Given the description of an element on the screen output the (x, y) to click on. 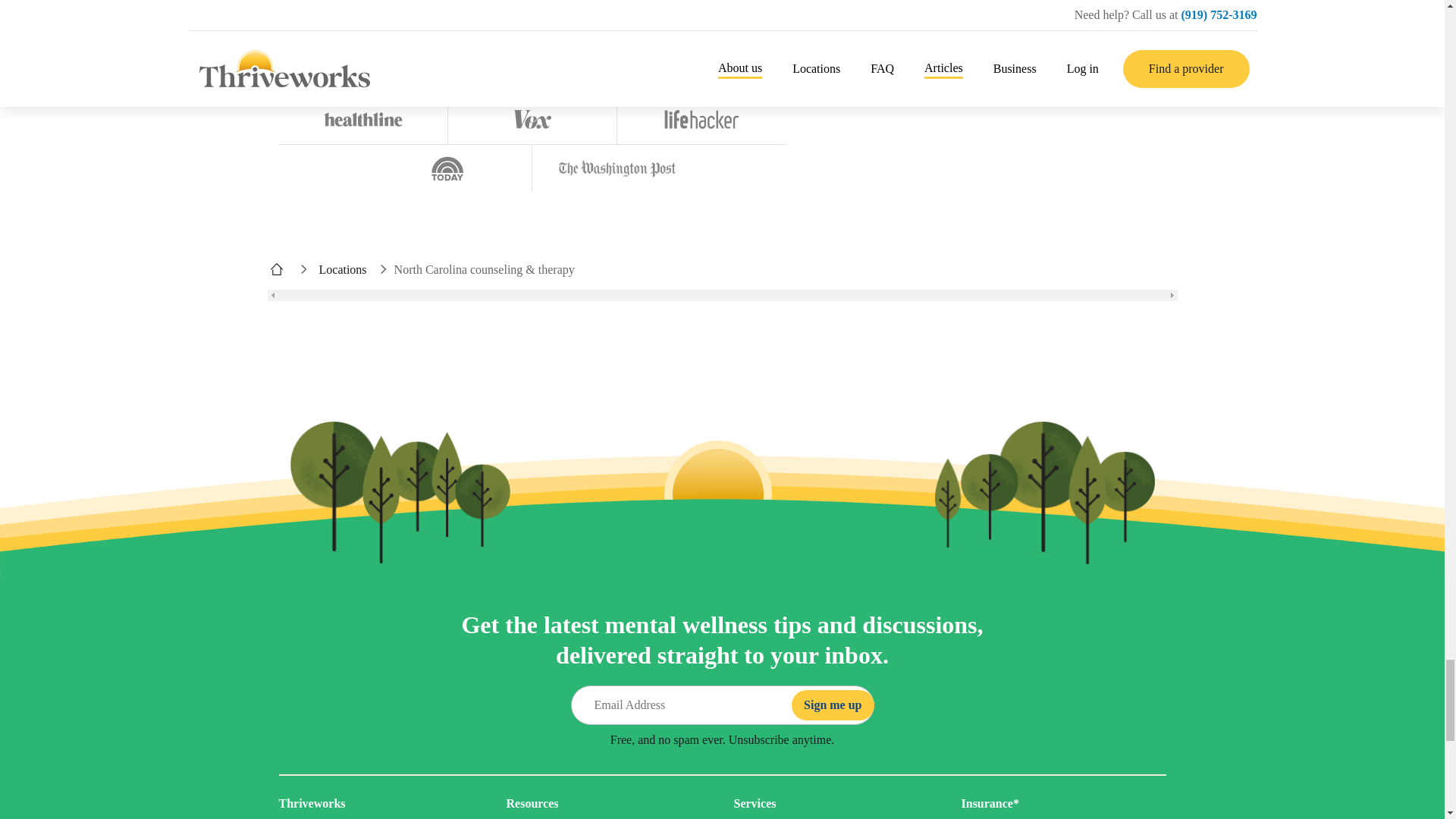
Sign me up (832, 705)
